Given the description of an element on the screen output the (x, y) to click on. 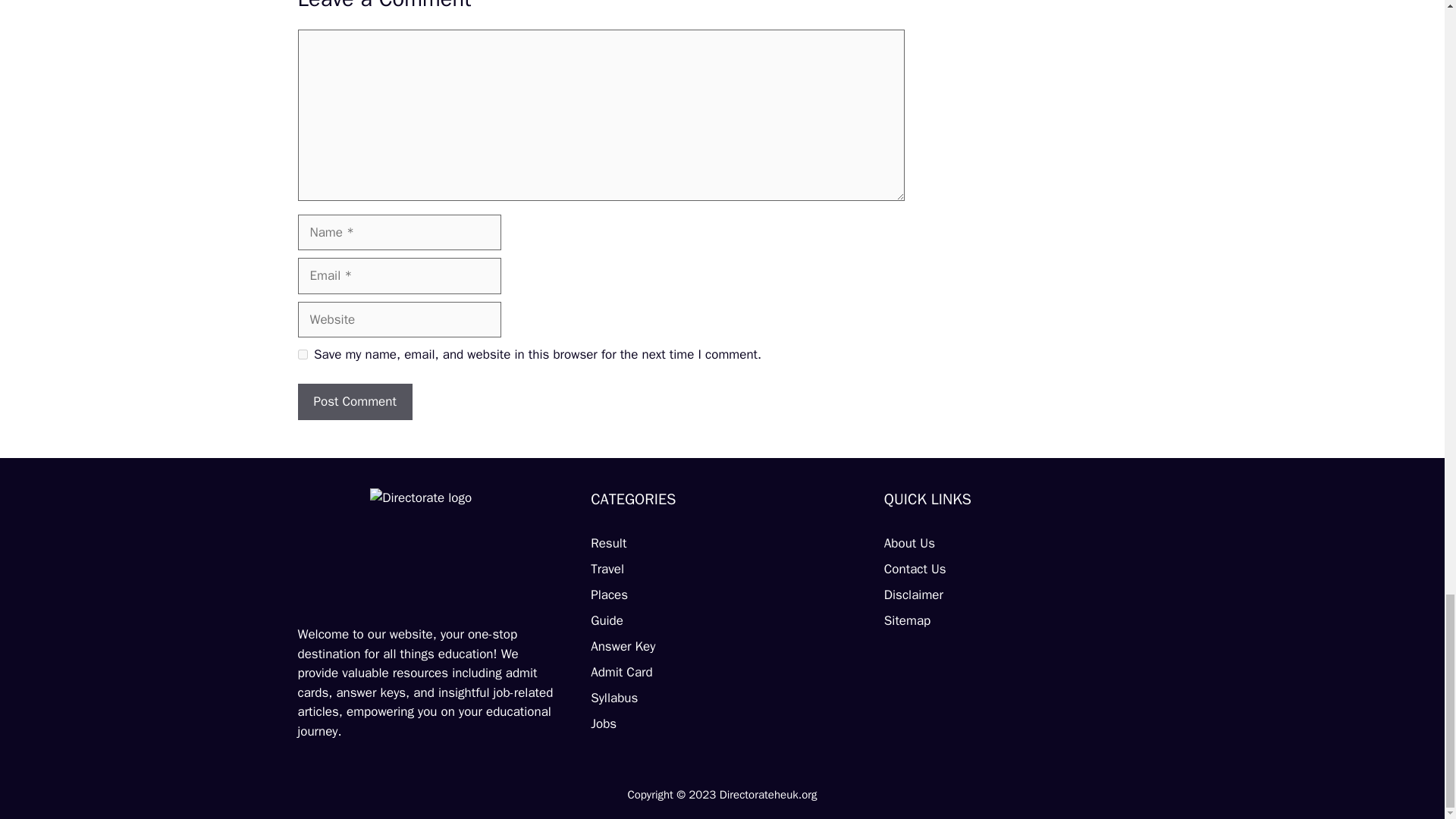
Post Comment (354, 402)
yes (302, 354)
Post Comment (354, 402)
